Given the description of an element on the screen output the (x, y) to click on. 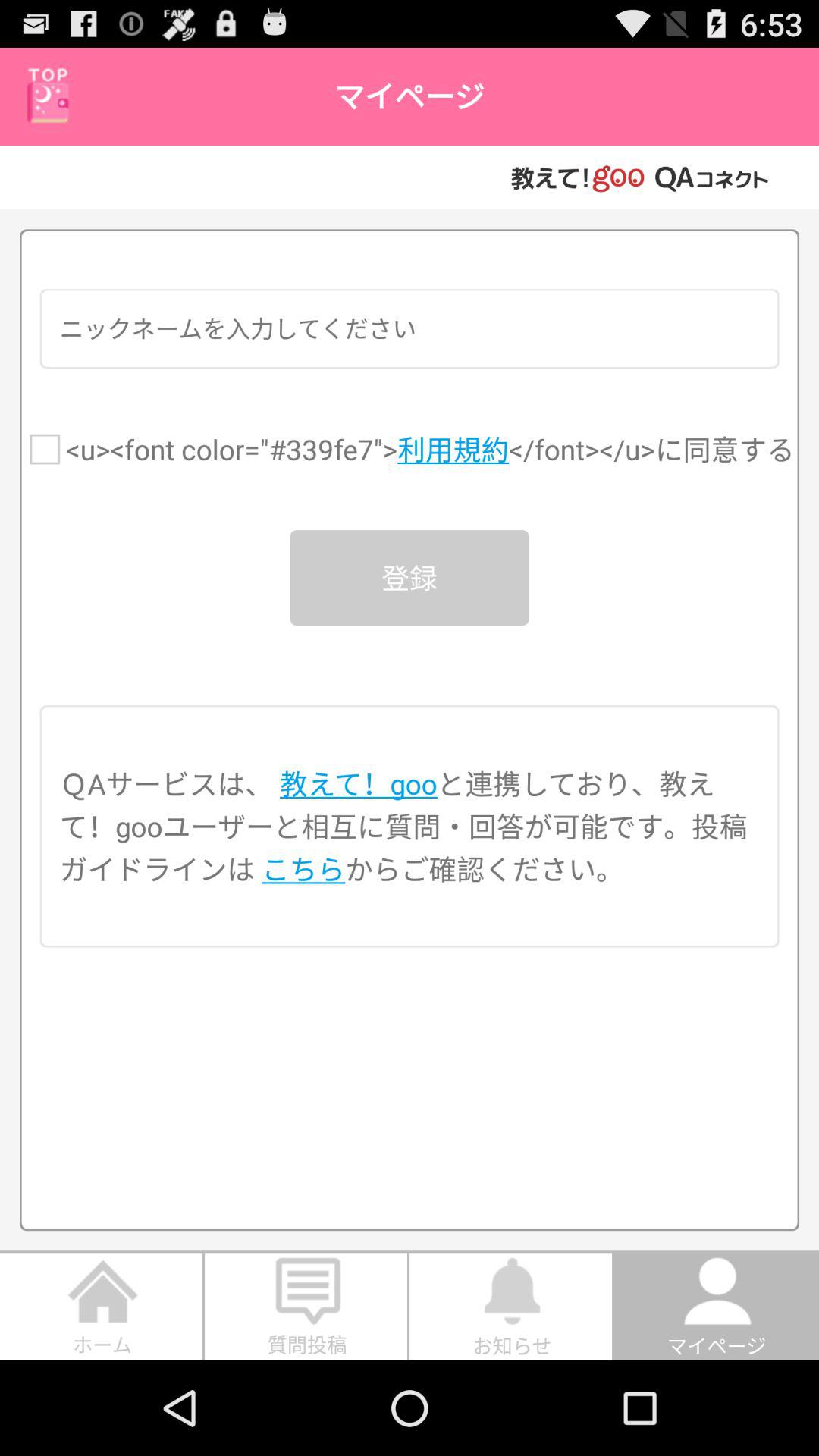
choose the icon next to u font color icon (44, 449)
